Given the description of an element on the screen output the (x, y) to click on. 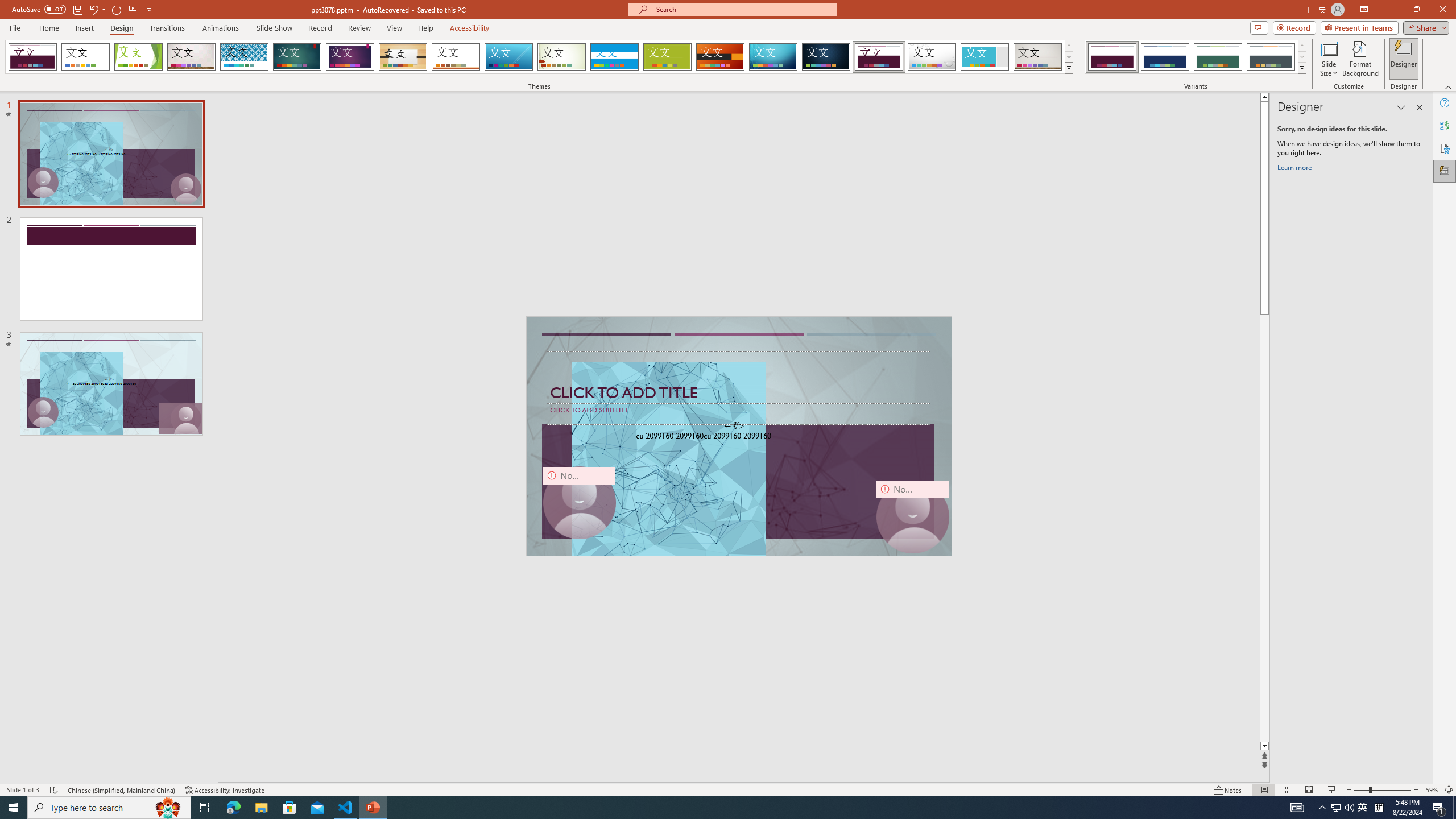
Damask (826, 56)
Ion (296, 56)
Office Theme (85, 56)
Wisp (561, 56)
AutomationID: SlideThemesGallery (539, 56)
